Given the description of an element on the screen output the (x, y) to click on. 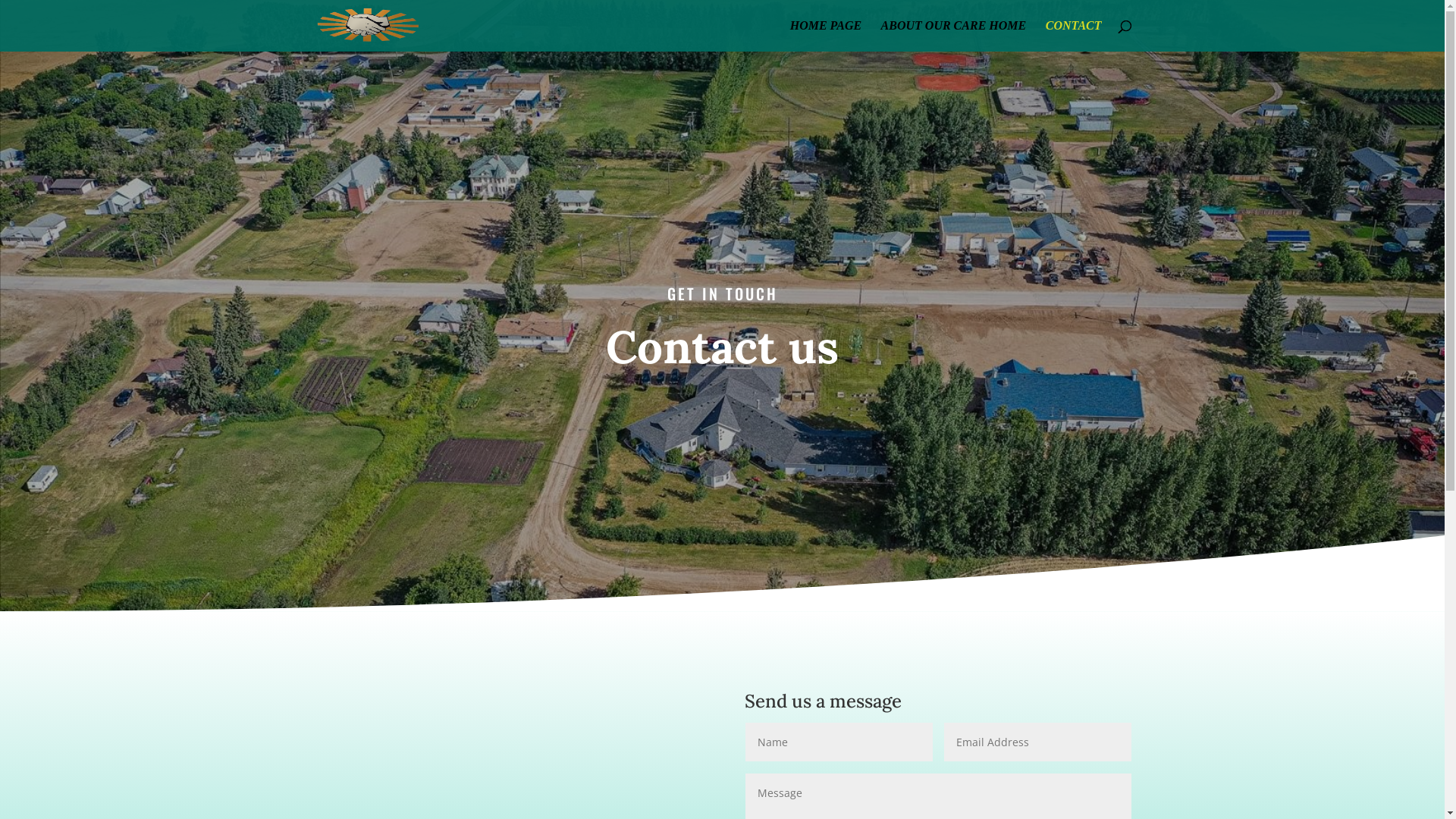
ABOUT OUR CARE HOME Element type: text (953, 35)
CONTACT Element type: text (1073, 35)
HOME PAGE Element type: text (825, 35)
